Given the description of an element on the screen output the (x, y) to click on. 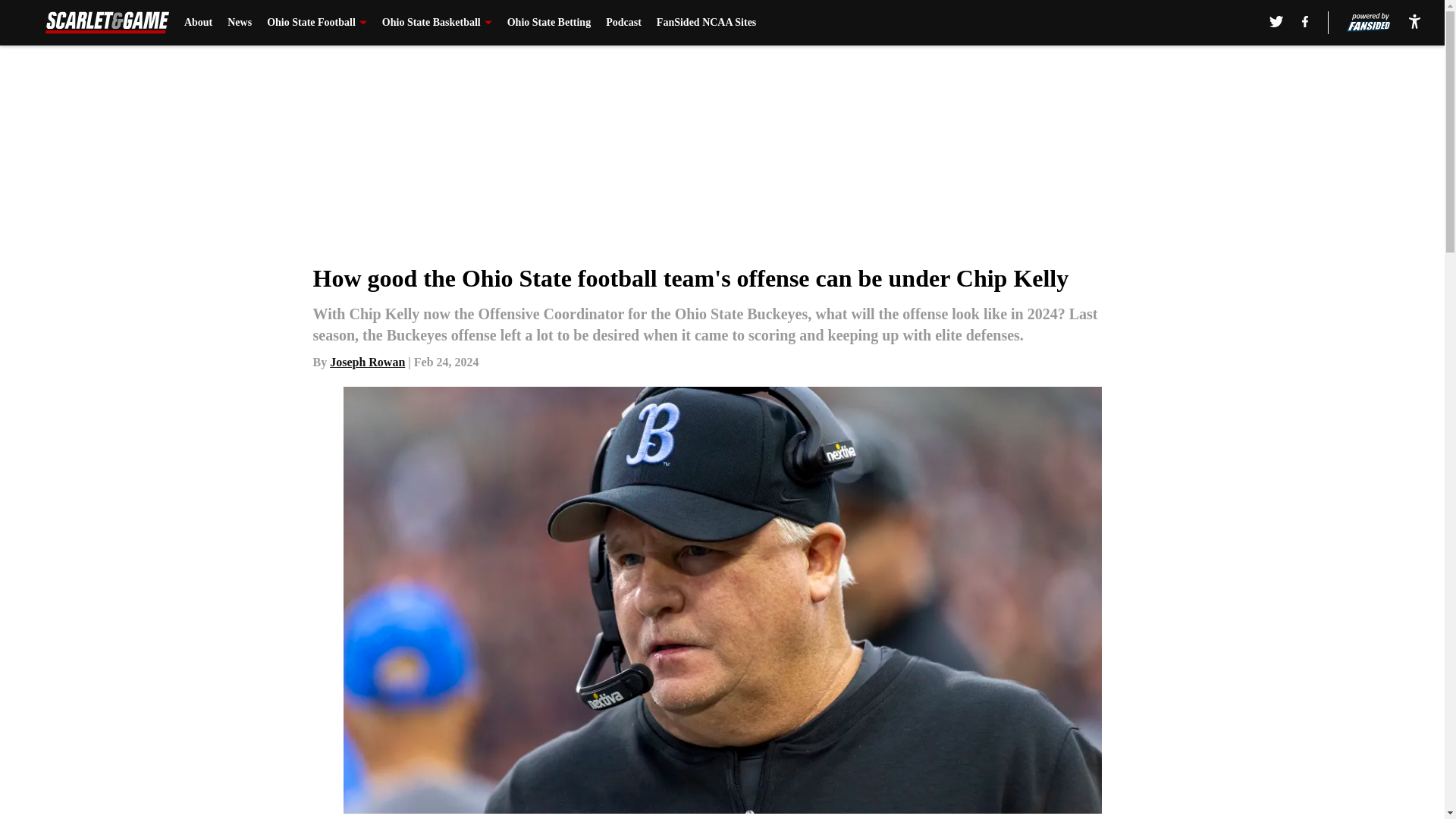
Ohio State Betting (548, 22)
FanSided NCAA Sites (705, 22)
About (198, 22)
News (239, 22)
Podcast (623, 22)
Joseph Rowan (367, 361)
